Given the description of an element on the screen output the (x, y) to click on. 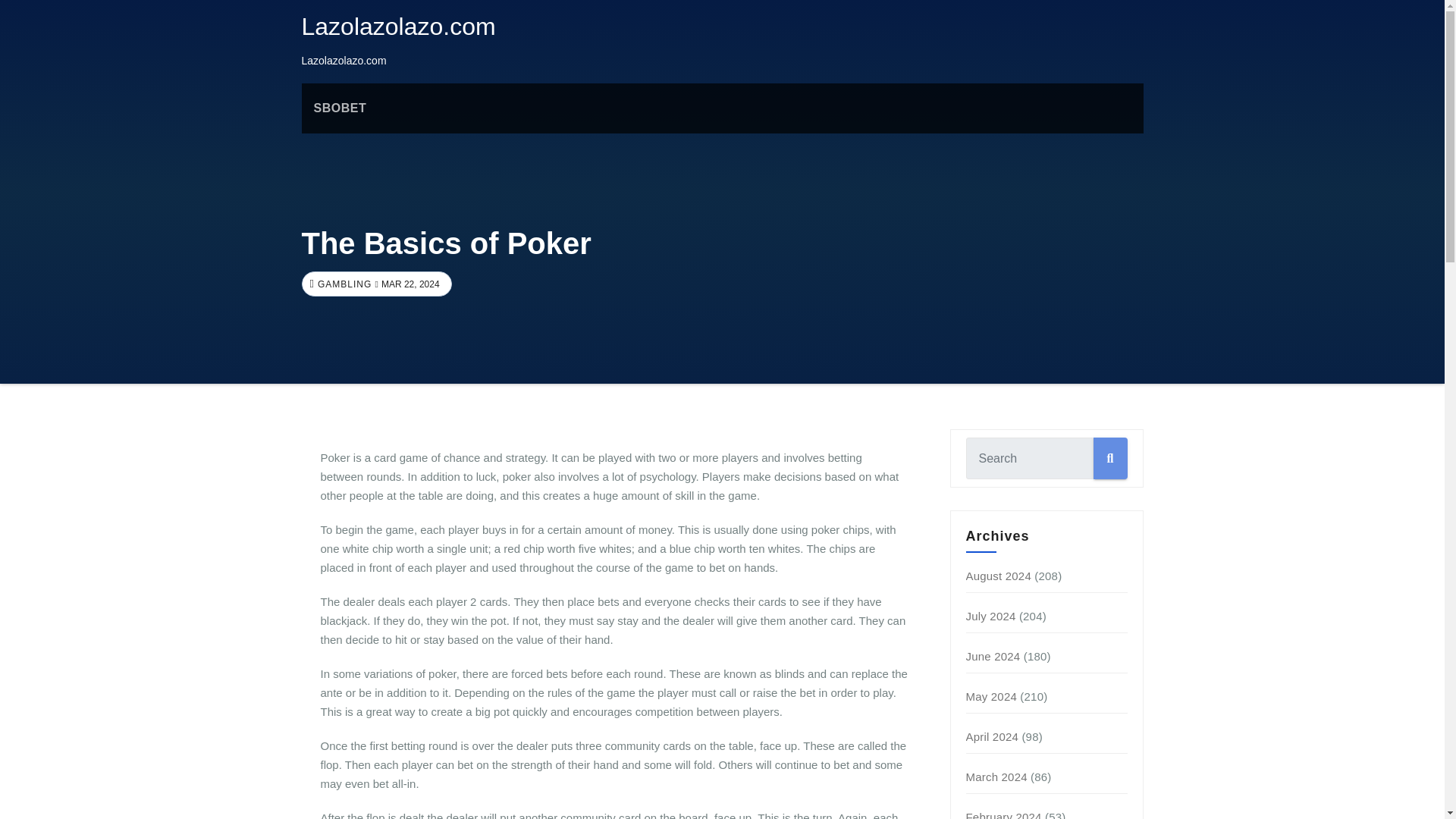
June 2024 (993, 656)
GAMBLING (342, 284)
SBOBET (339, 108)
April 2024 (992, 736)
Lazolazolazo.com (398, 26)
March 2024 (996, 776)
July 2024 (991, 615)
May 2024 (991, 696)
August 2024 (998, 575)
SBOBET (339, 108)
